Given the description of an element on the screen output the (x, y) to click on. 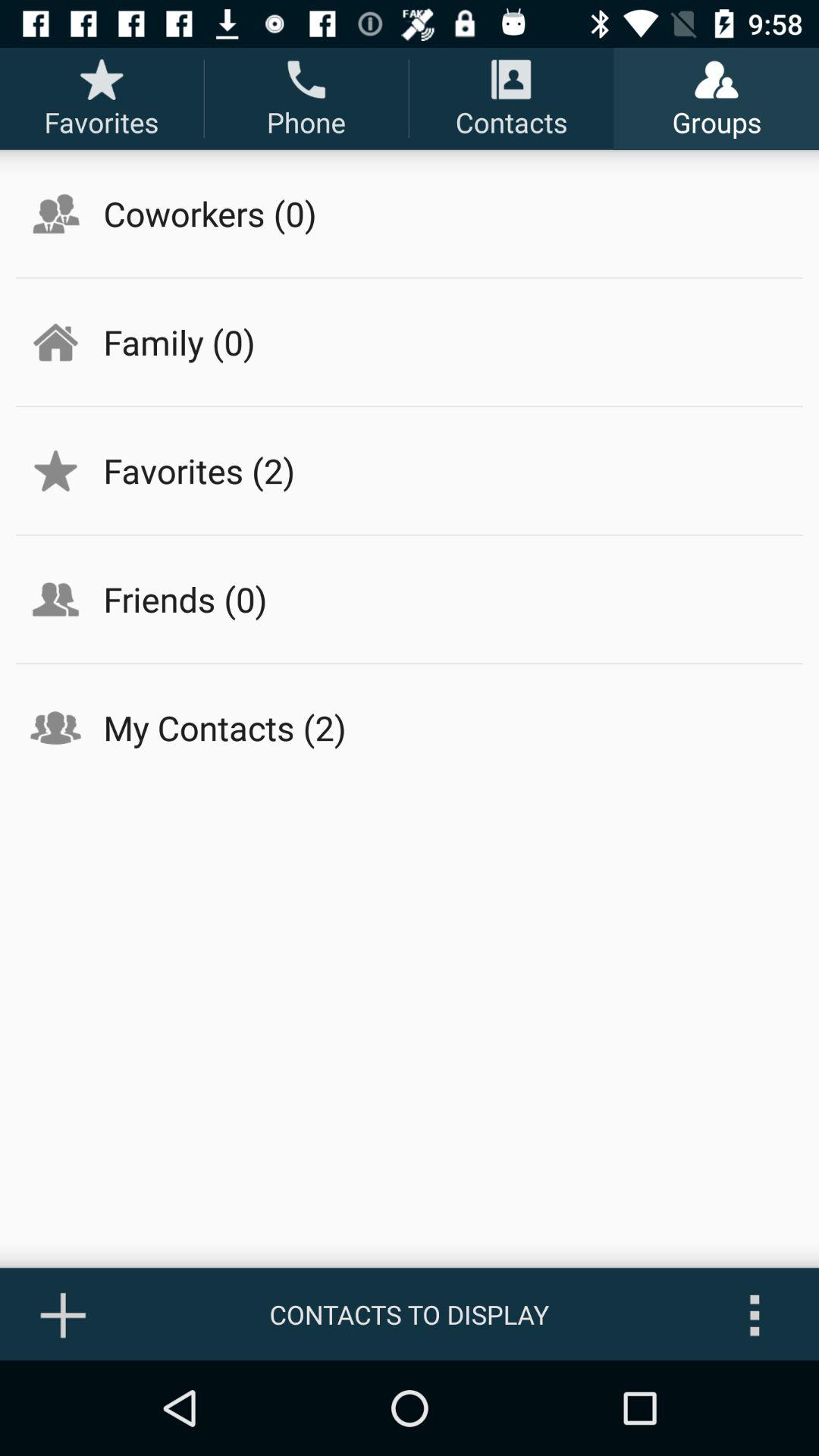
turn off icon next to contacts to display icon (755, 1314)
